Given the description of an element on the screen output the (x, y) to click on. 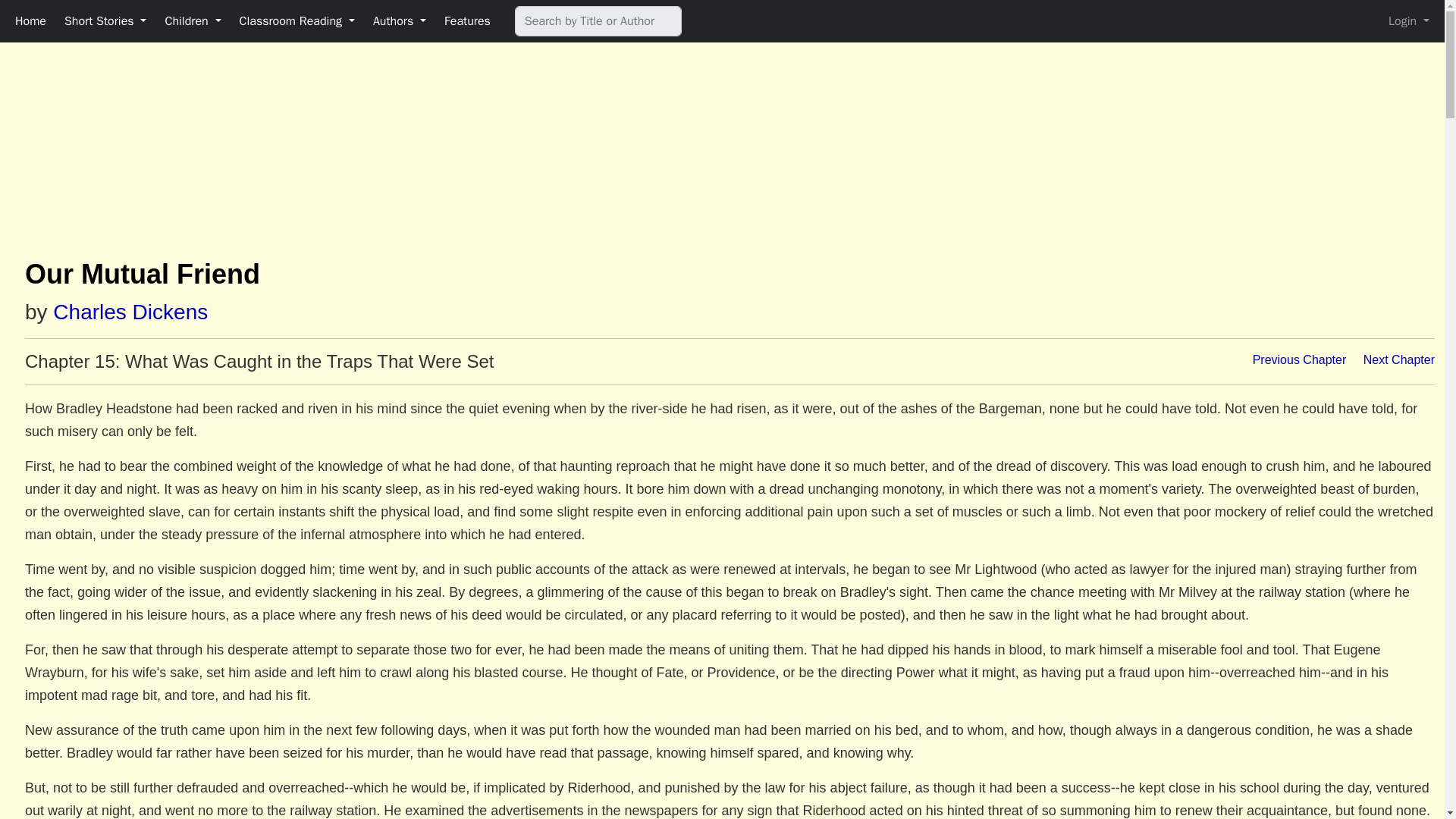
Children (192, 20)
Short Stories (105, 20)
Home (30, 20)
